Given the description of an element on the screen output the (x, y) to click on. 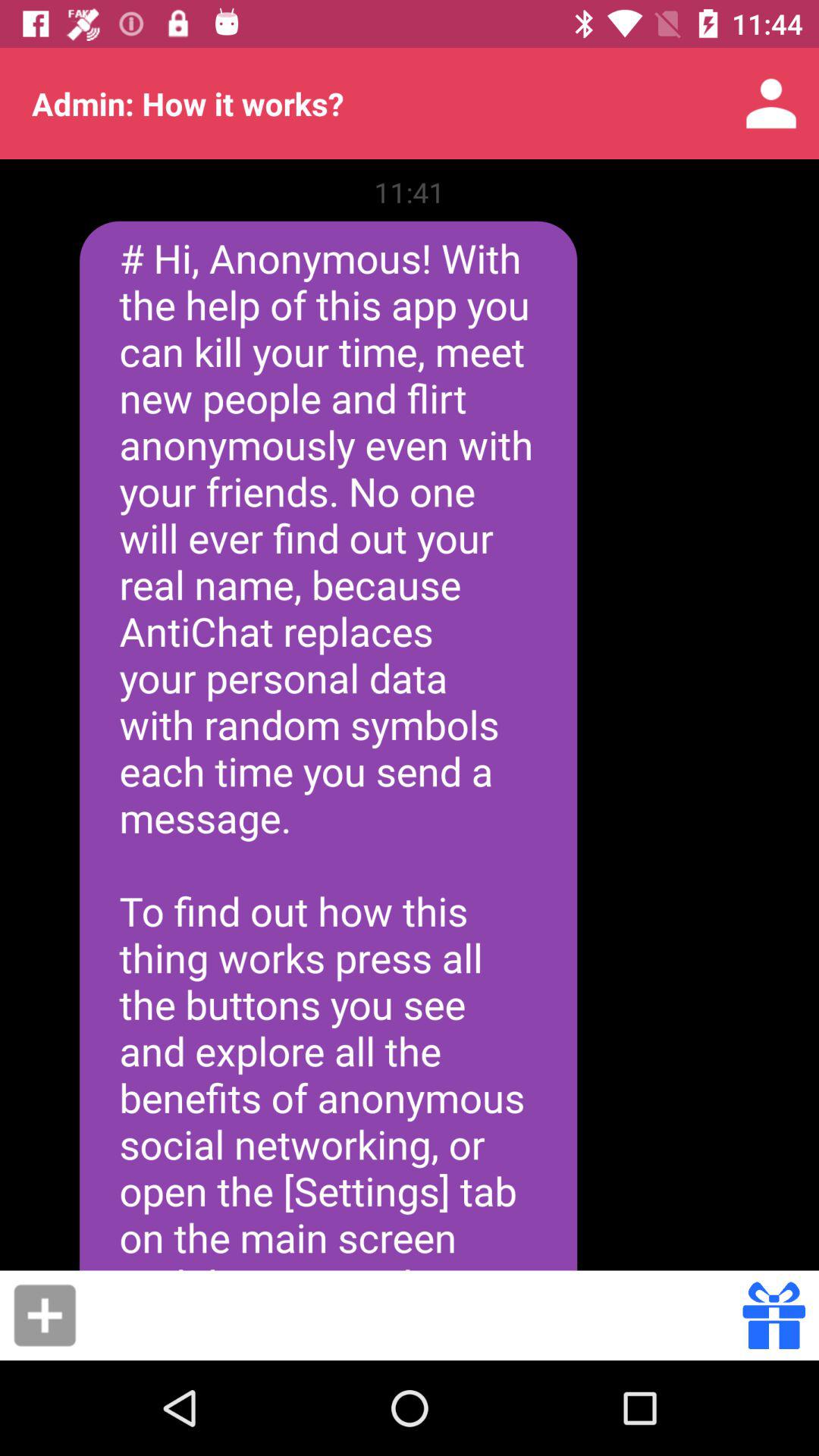
add a gift (44, 1315)
